Given the description of an element on the screen output the (x, y) to click on. 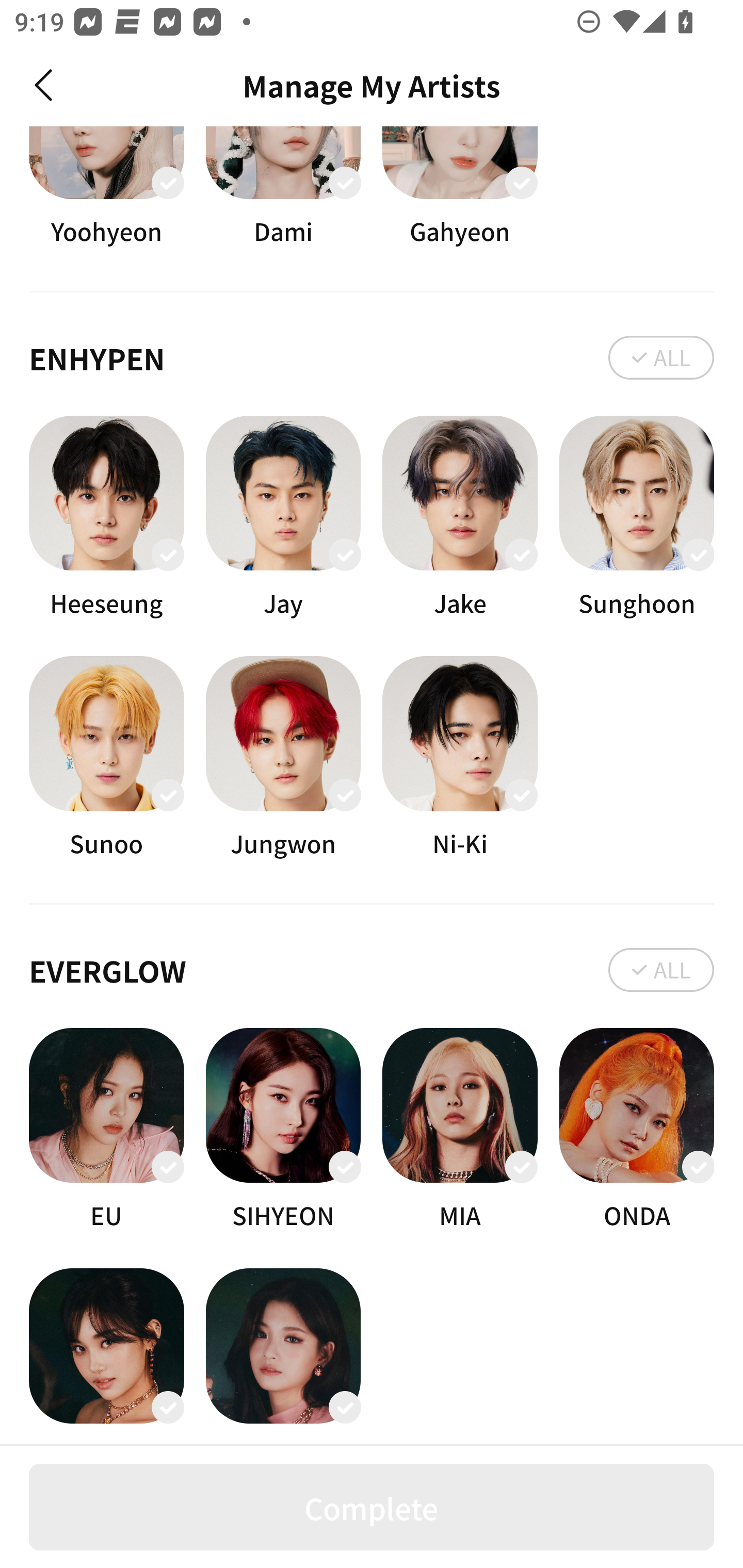
Yoohyeon (106, 187)
Dami (282, 187)
Gahyeon (459, 187)
ALL (661, 357)
Heeseung (106, 517)
Jay (282, 517)
Jake (459, 517)
Sunghoon (636, 517)
Sunoo (106, 757)
Jungwon (282, 757)
Ni-Ki (459, 757)
ALL (661, 970)
EU (106, 1130)
SIHYEON (282, 1130)
MIA (459, 1130)
ONDA (636, 1130)
AISHA (106, 1356)
YIREN (282, 1356)
Complete (371, 1507)
